Given the description of an element on the screen output the (x, y) to click on. 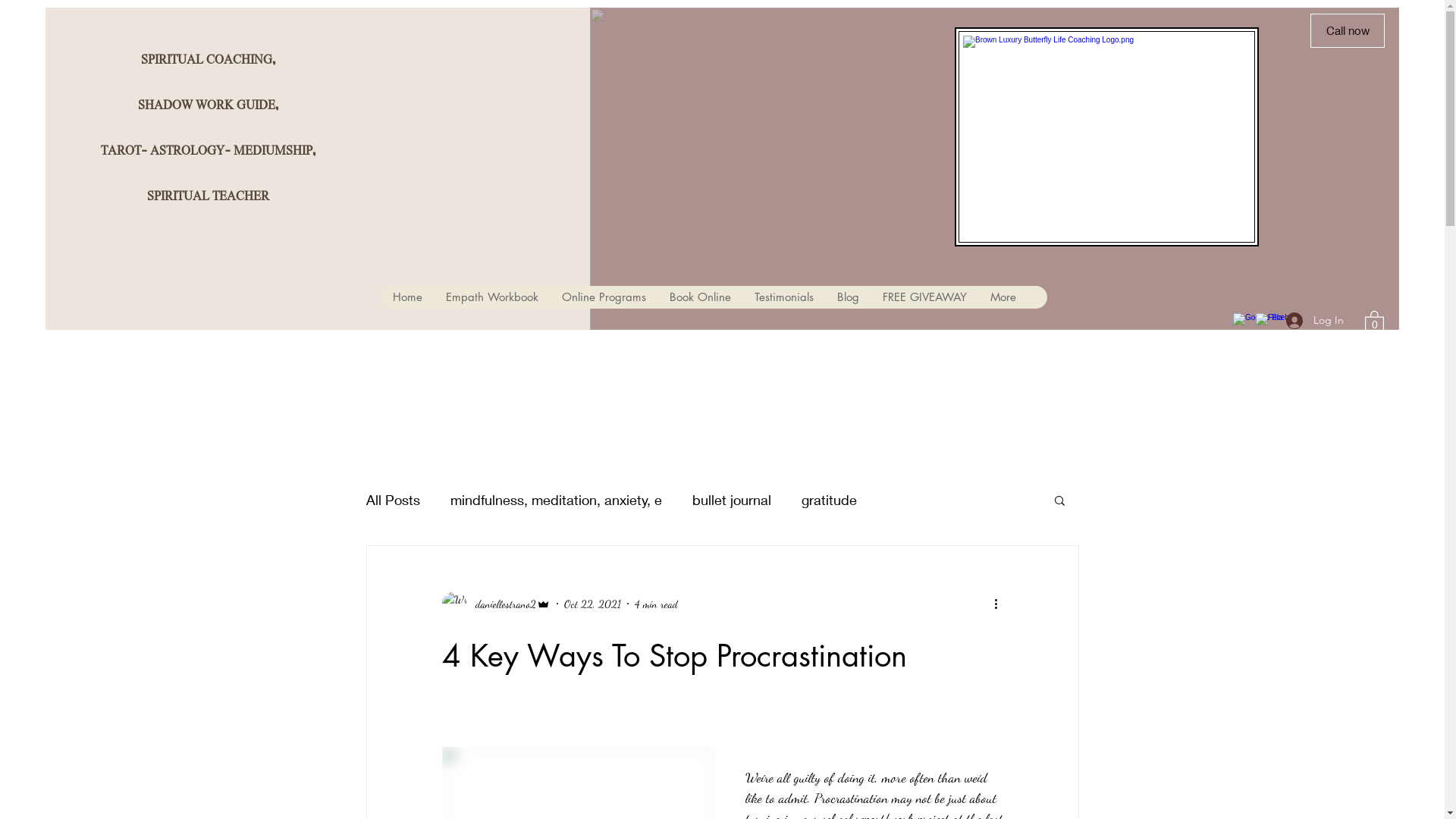
Call now Element type: text (1347, 30)
All Posts Element type: text (392, 499)
FREE GIVEAWAY Element type: text (924, 296)
daniellestrano2 Element type: text (495, 603)
Book Online Element type: text (698, 296)
Testimonials Element type: text (782, 296)
Empath Workbook Element type: text (491, 296)
bullet journal Element type: text (730, 499)
0 Element type: text (1374, 320)
Home Element type: text (406, 296)
gratitude Element type: text (828, 499)
Blog Element type: text (847, 296)
Log In Element type: text (1314, 320)
mindfulness, meditation, anxiety, e Element type: text (556, 499)
Online Programs Element type: text (602, 296)
